Given the description of an element on the screen output the (x, y) to click on. 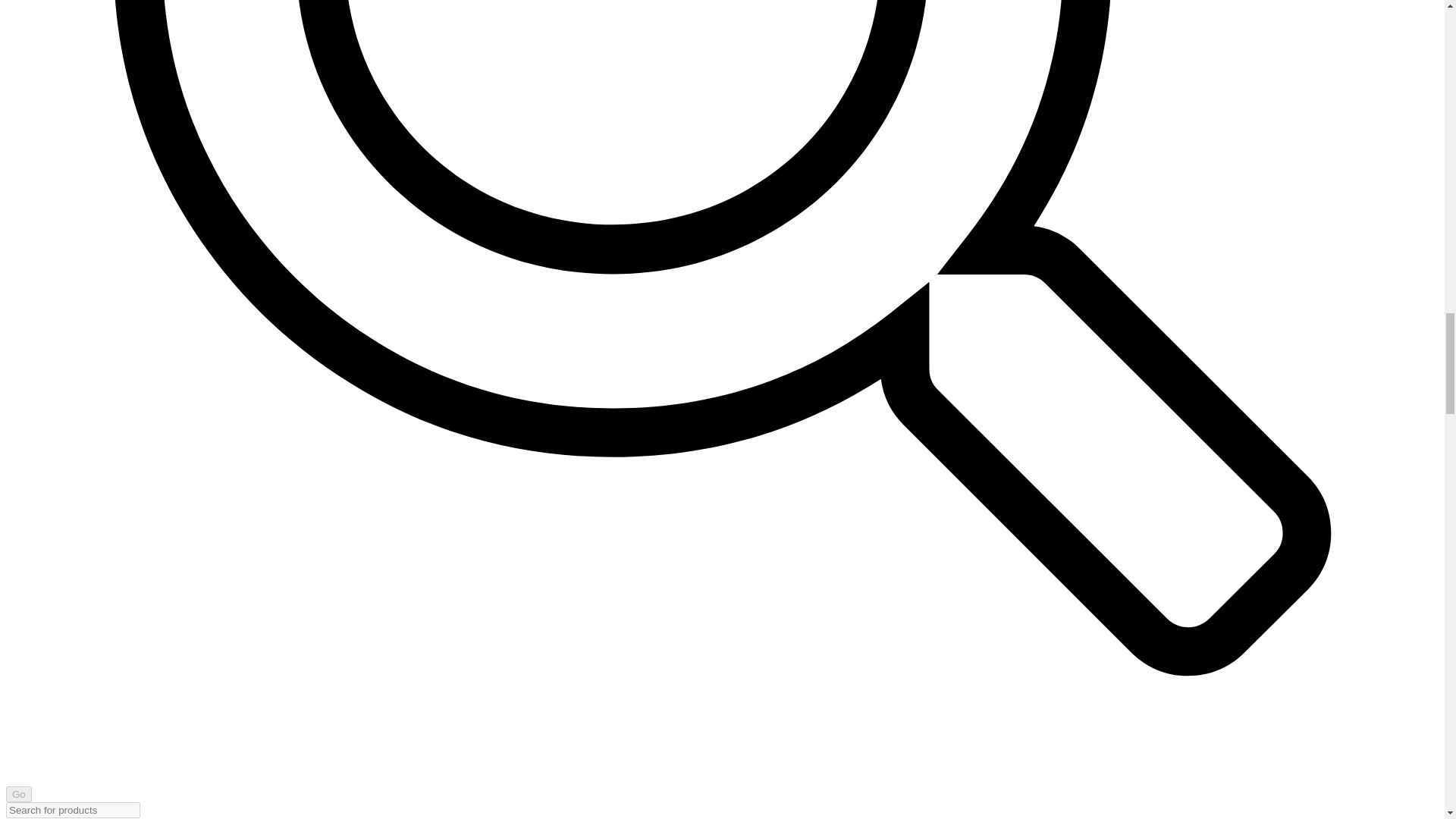
Go (18, 794)
